Given the description of an element on the screen output the (x, y) to click on. 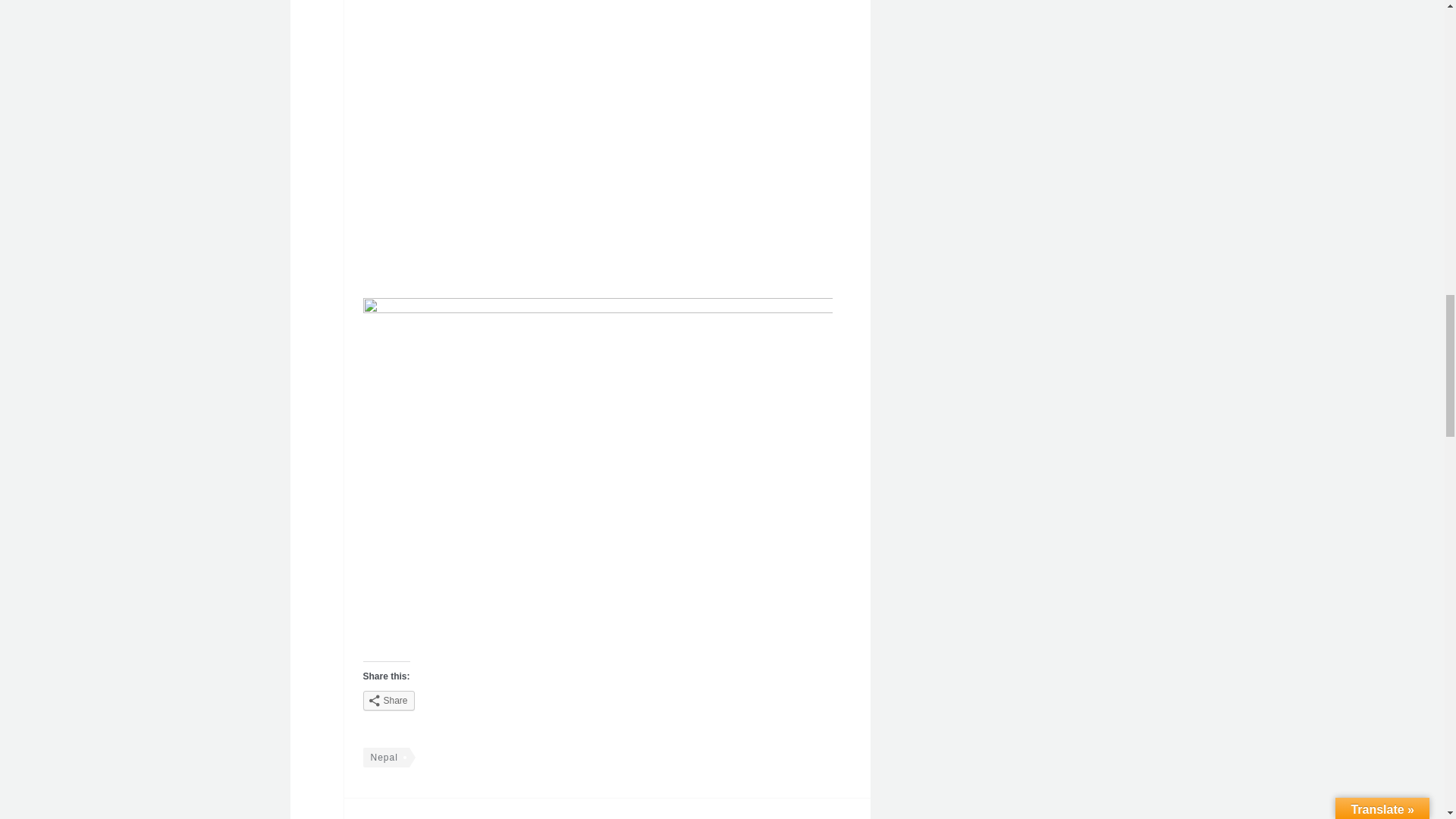
Share (387, 700)
Nepal (470, 808)
